Given the description of an element on the screen output the (x, y) to click on. 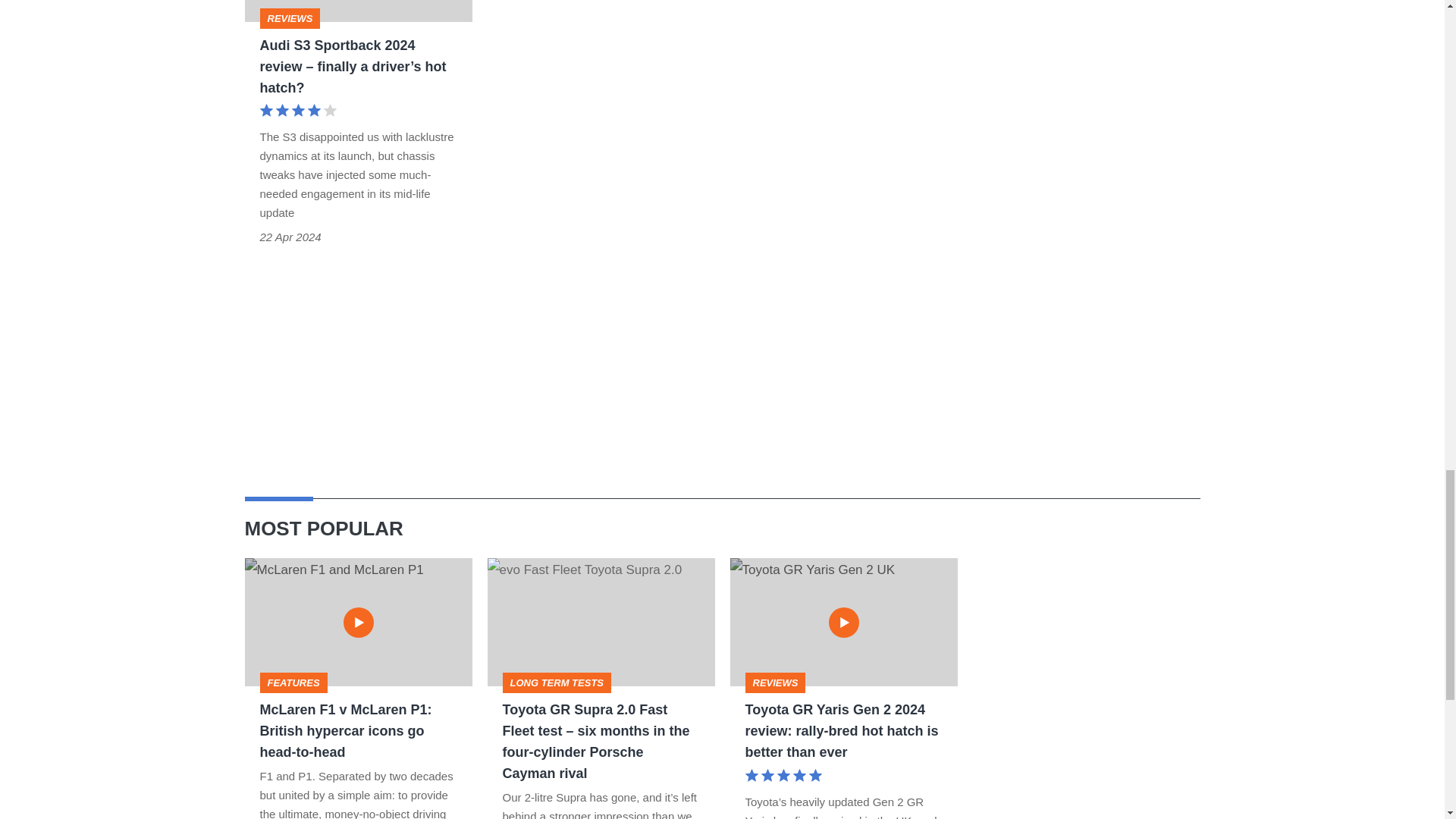
4 Stars (297, 112)
5 Stars (782, 776)
